Given the description of an element on the screen output the (x, y) to click on. 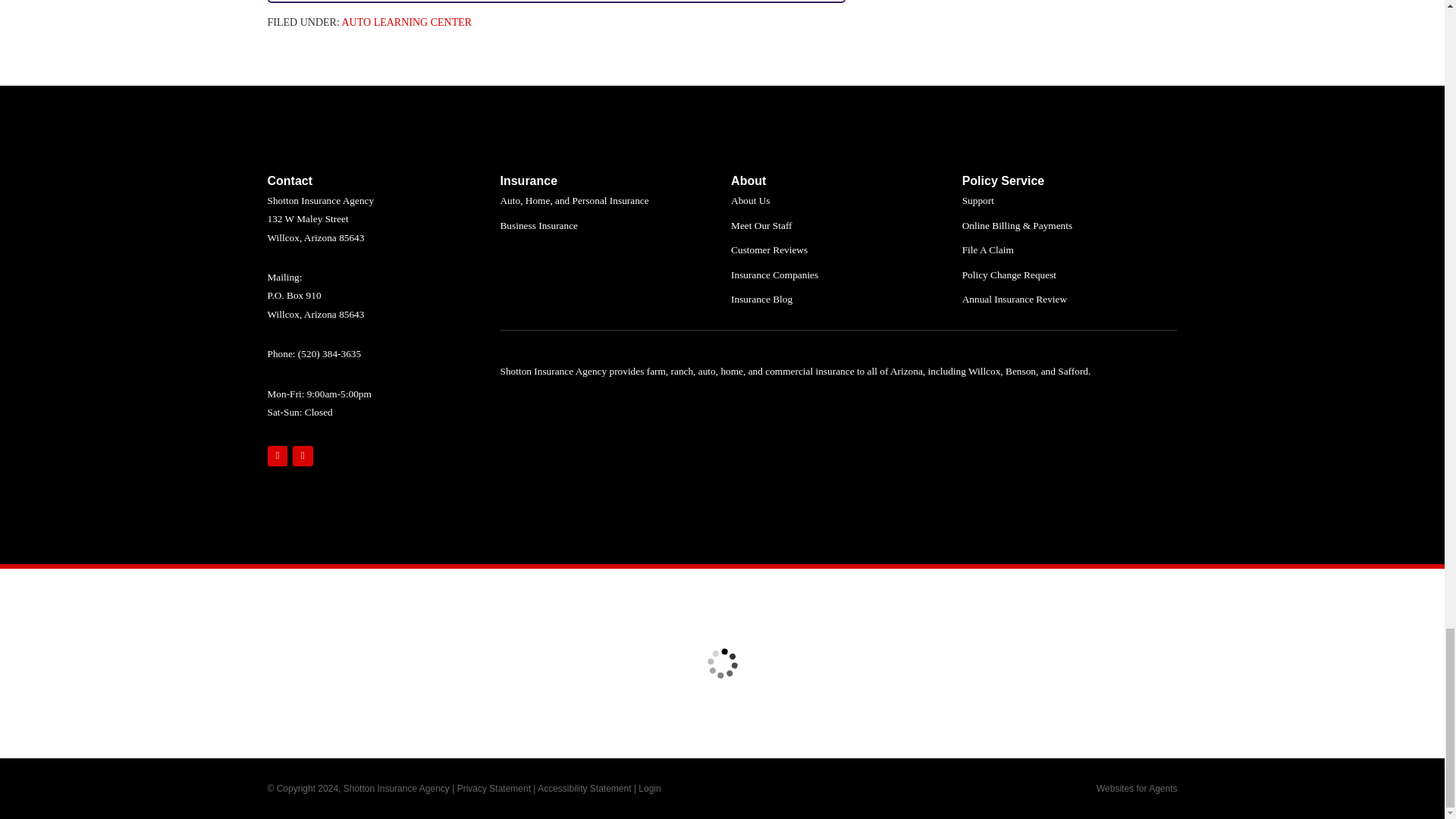
Yelp (302, 455)
Google Maps (276, 455)
Auto Learning Center (405, 21)
